Given the description of an element on the screen output the (x, y) to click on. 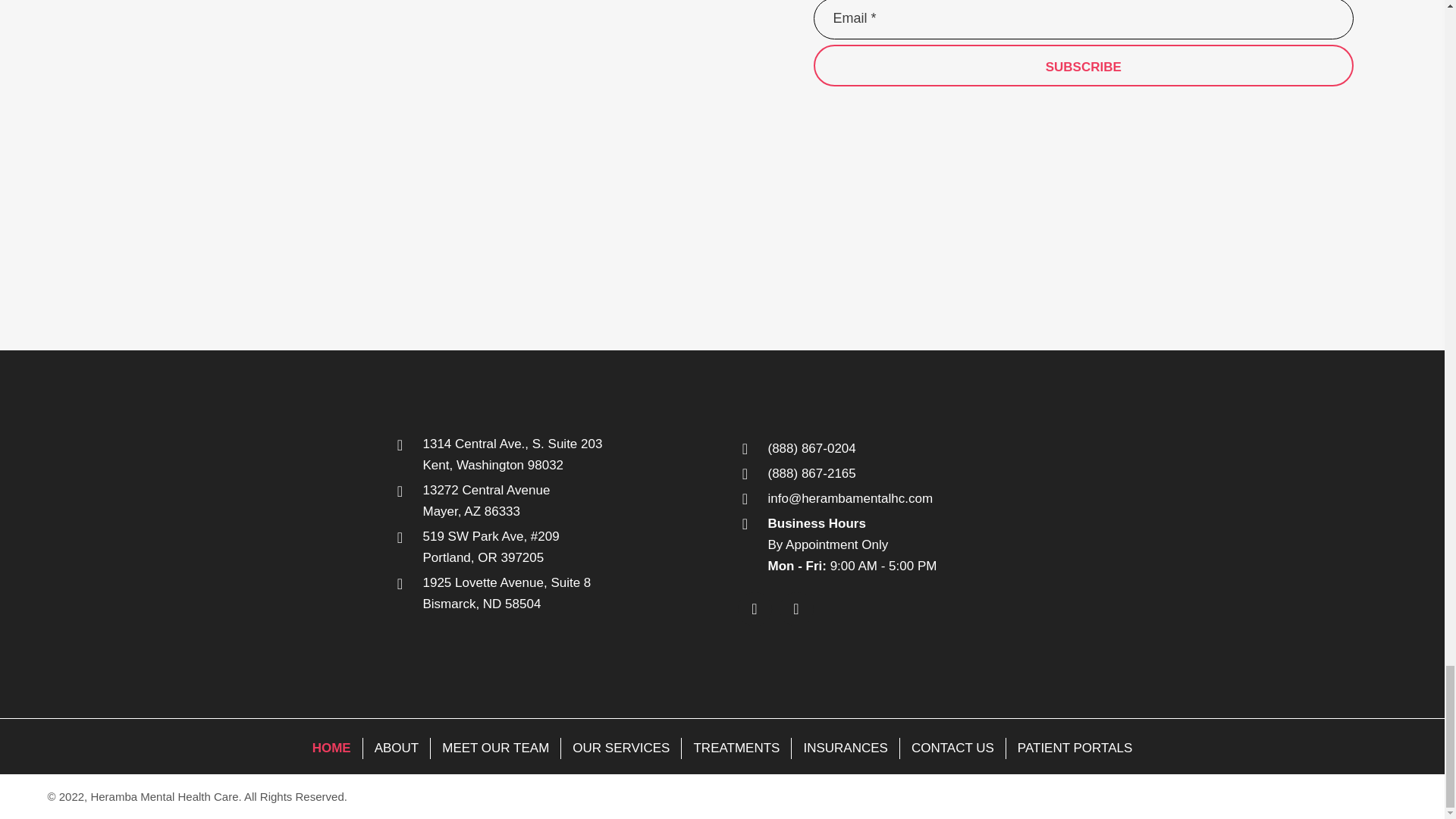
INSURANCES (845, 748)
SUBSCRIBE (1083, 65)
Instagram (795, 609)
HOME (331, 748)
TREATMENTS (735, 748)
OUR SERVICES (620, 748)
13272 Central Avenue (486, 490)
MEET OUR TEAM (495, 748)
Kent, Washington 98032 (493, 464)
Facebook (753, 609)
